Given the description of an element on the screen output the (x, y) to click on. 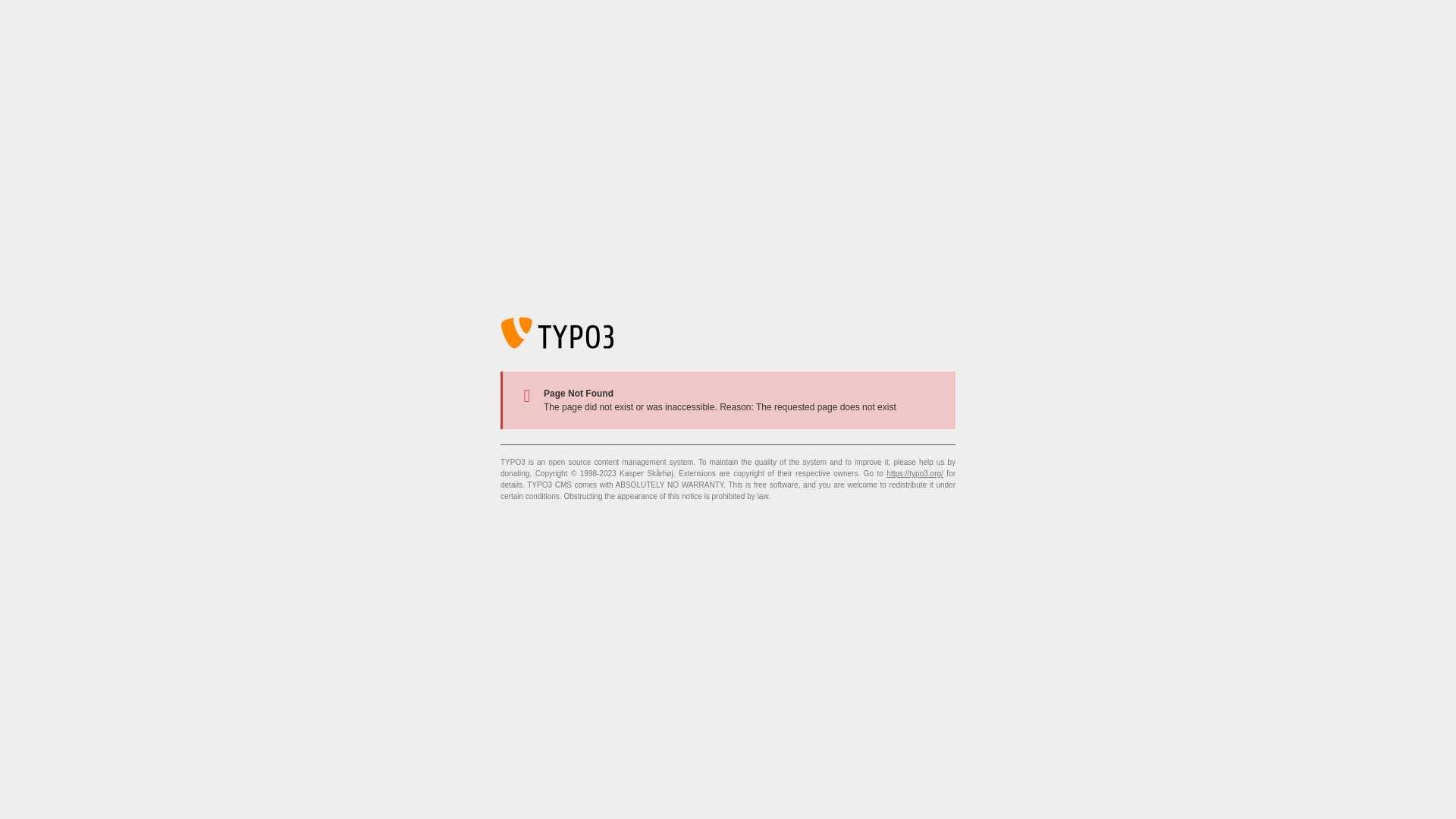
https://typo3.org/ Element type: text (914, 473)
